Given the description of an element on the screen output the (x, y) to click on. 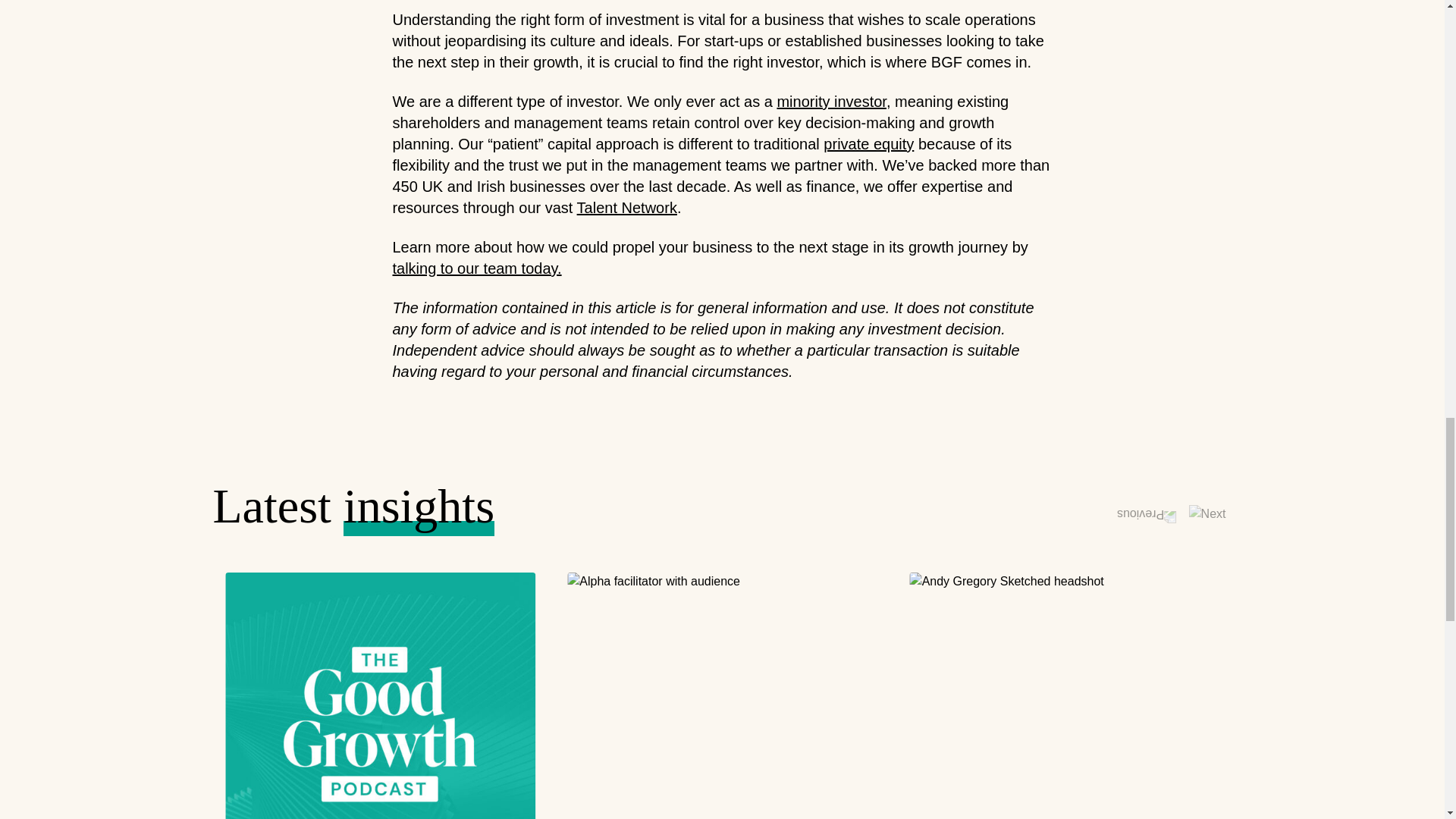
minority investor (831, 101)
private equity (869, 143)
Talent Network (626, 207)
talking to our team today. (477, 268)
